Given the description of an element on the screen output the (x, y) to click on. 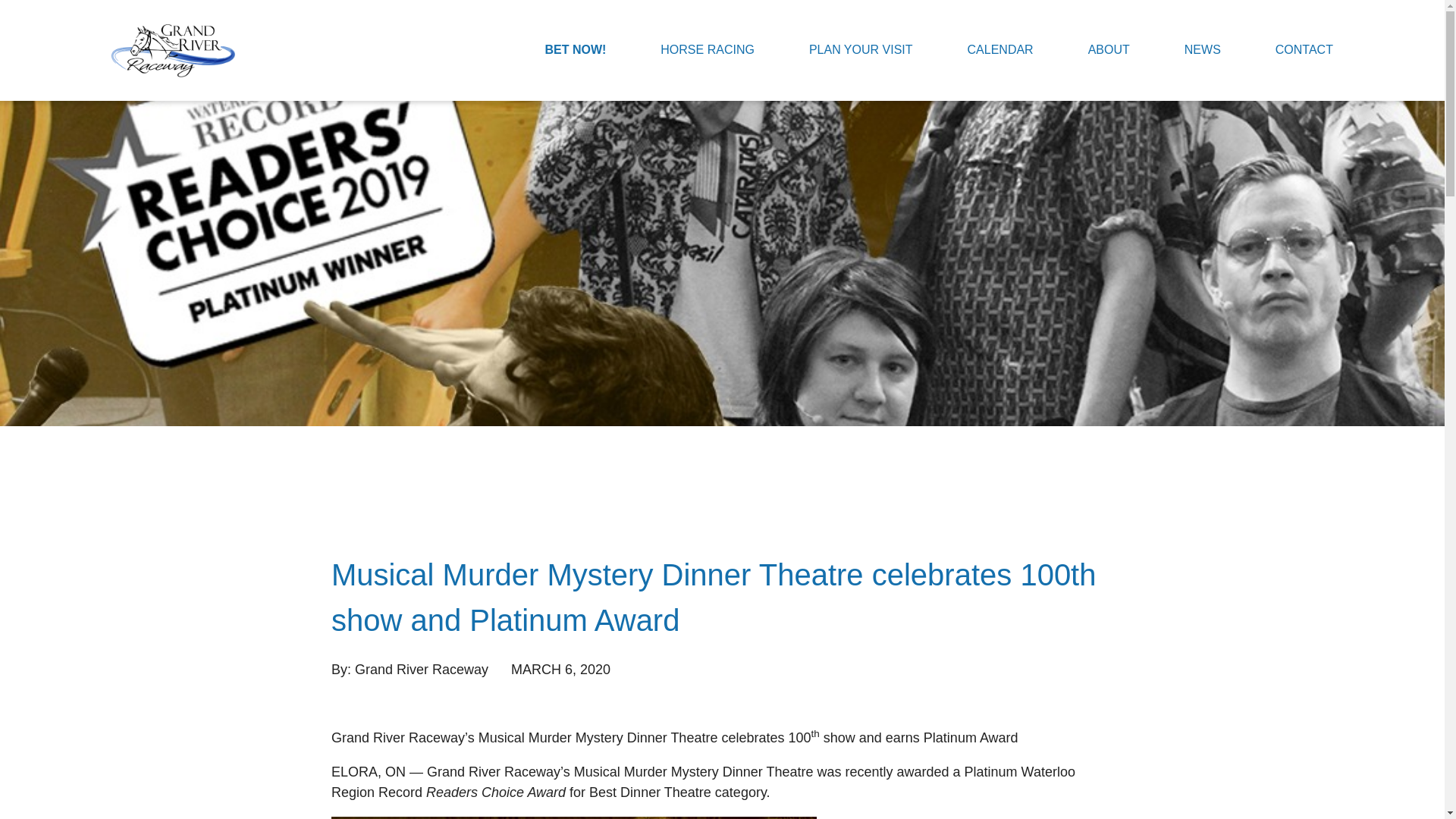
NEWS (1203, 49)
BET NOW! (574, 49)
CALENDAR (1000, 49)
CONTACT (1304, 49)
Home (173, 50)
ABOUT (1108, 49)
